Given the description of an element on the screen output the (x, y) to click on. 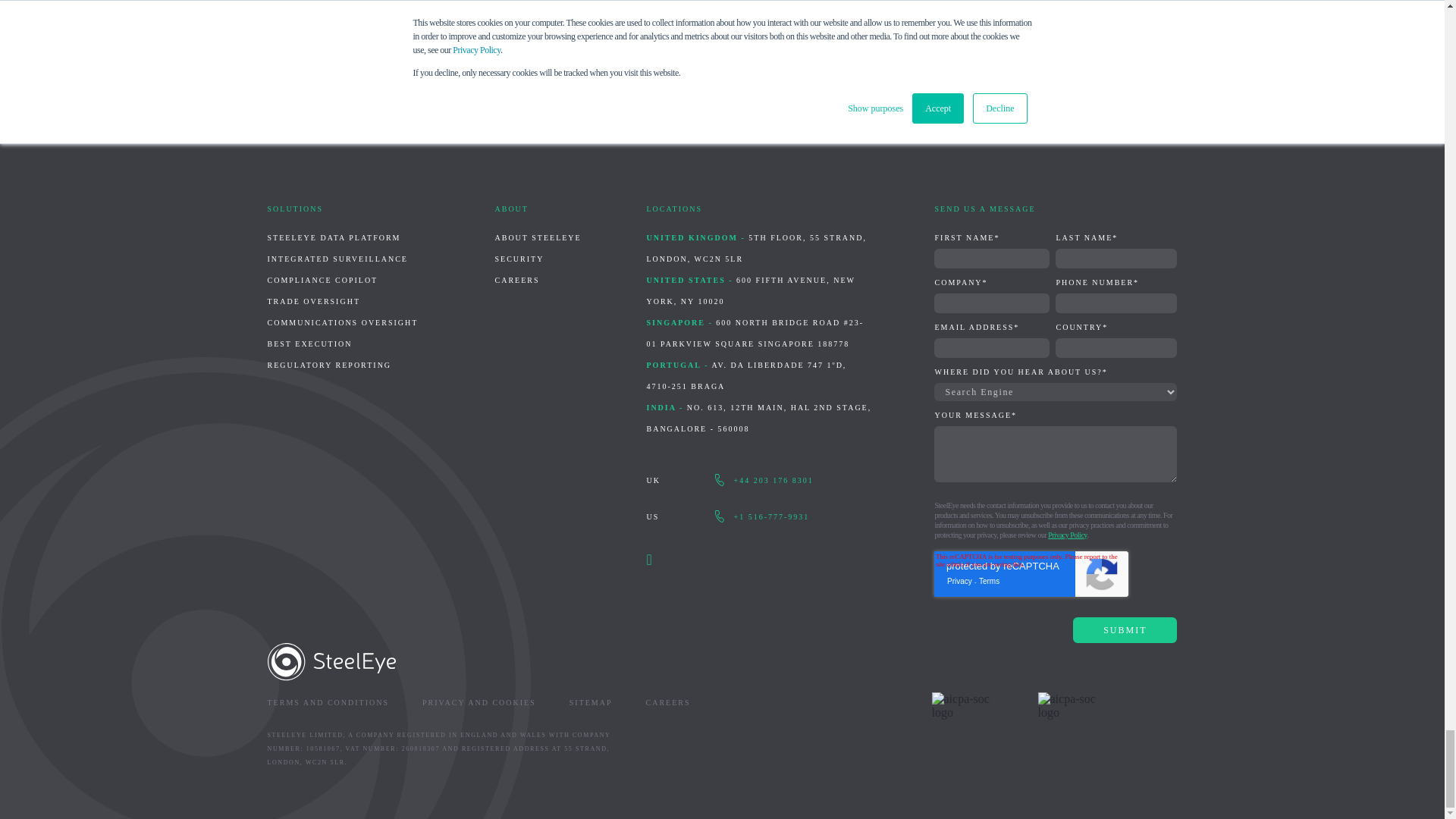
Submit (1124, 629)
reCAPTCHA (1031, 574)
